Given the description of an element on the screen output the (x, y) to click on. 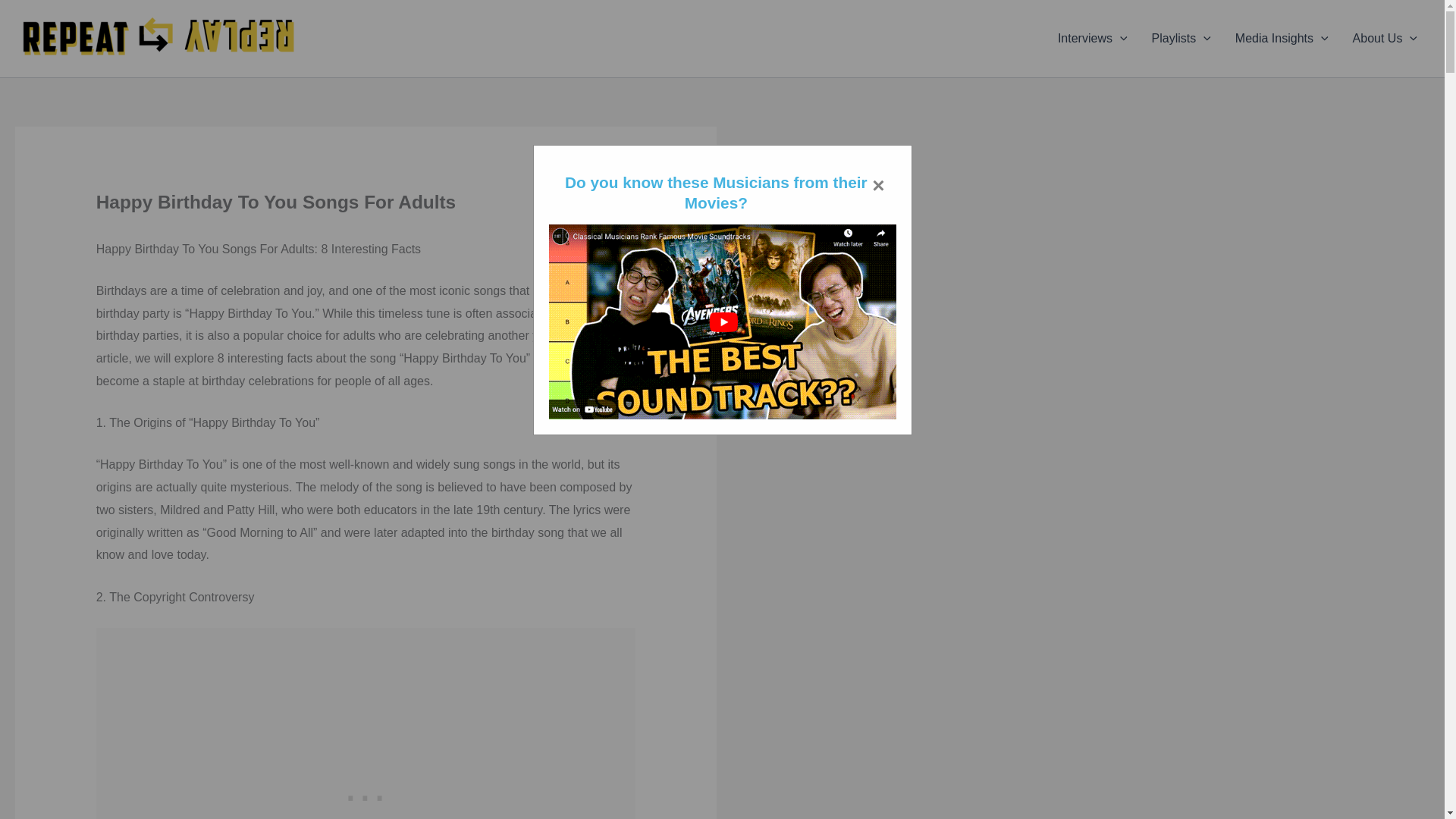
Interviews (1092, 38)
Media Insights (1281, 38)
Playlists (1181, 38)
About Us (1384, 38)
